Given the description of an element on the screen output the (x, y) to click on. 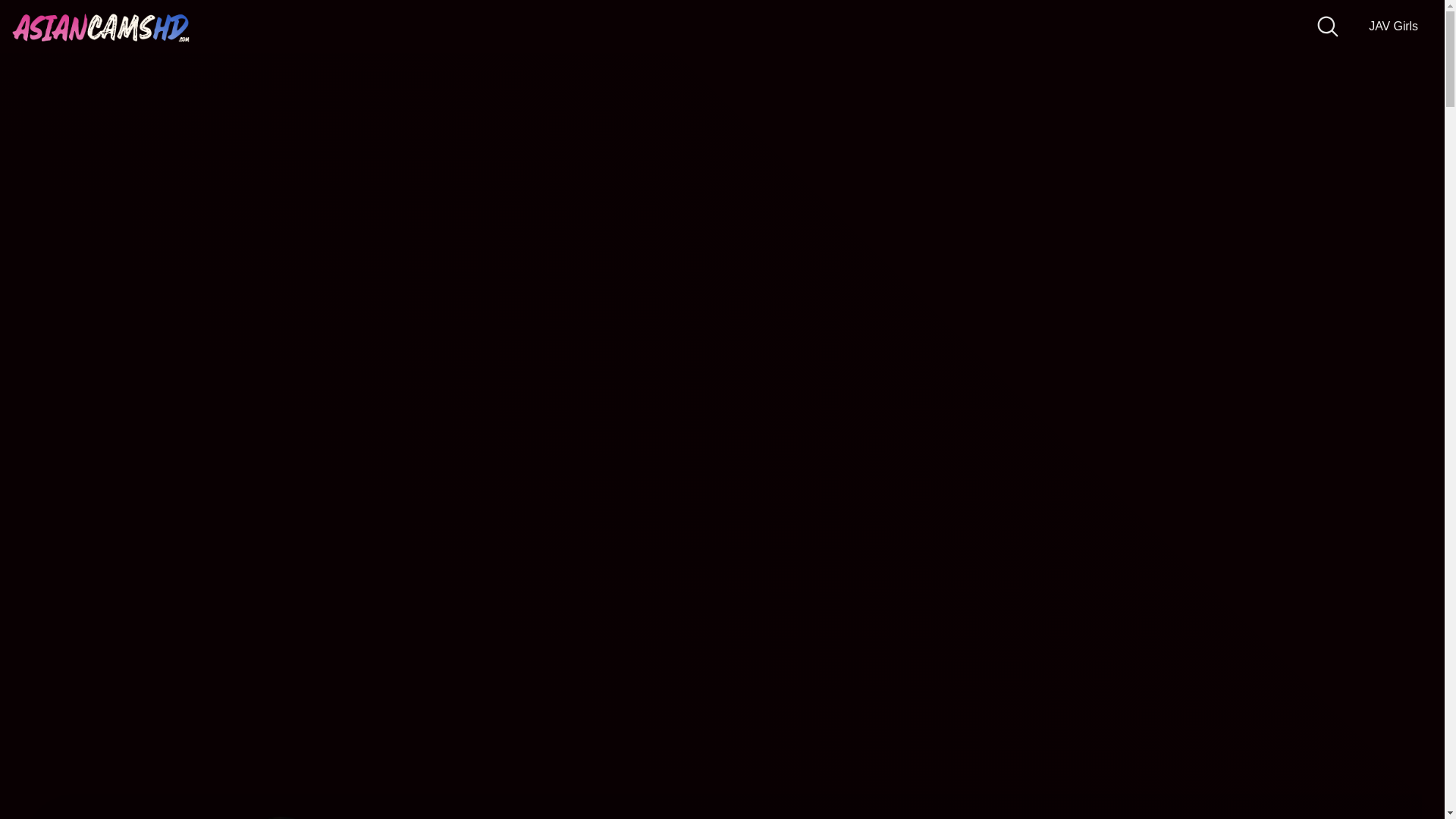
SatiPierce (280, 816)
JAV Girls (1392, 26)
JAV Girls (1392, 26)
